Given the description of an element on the screen output the (x, y) to click on. 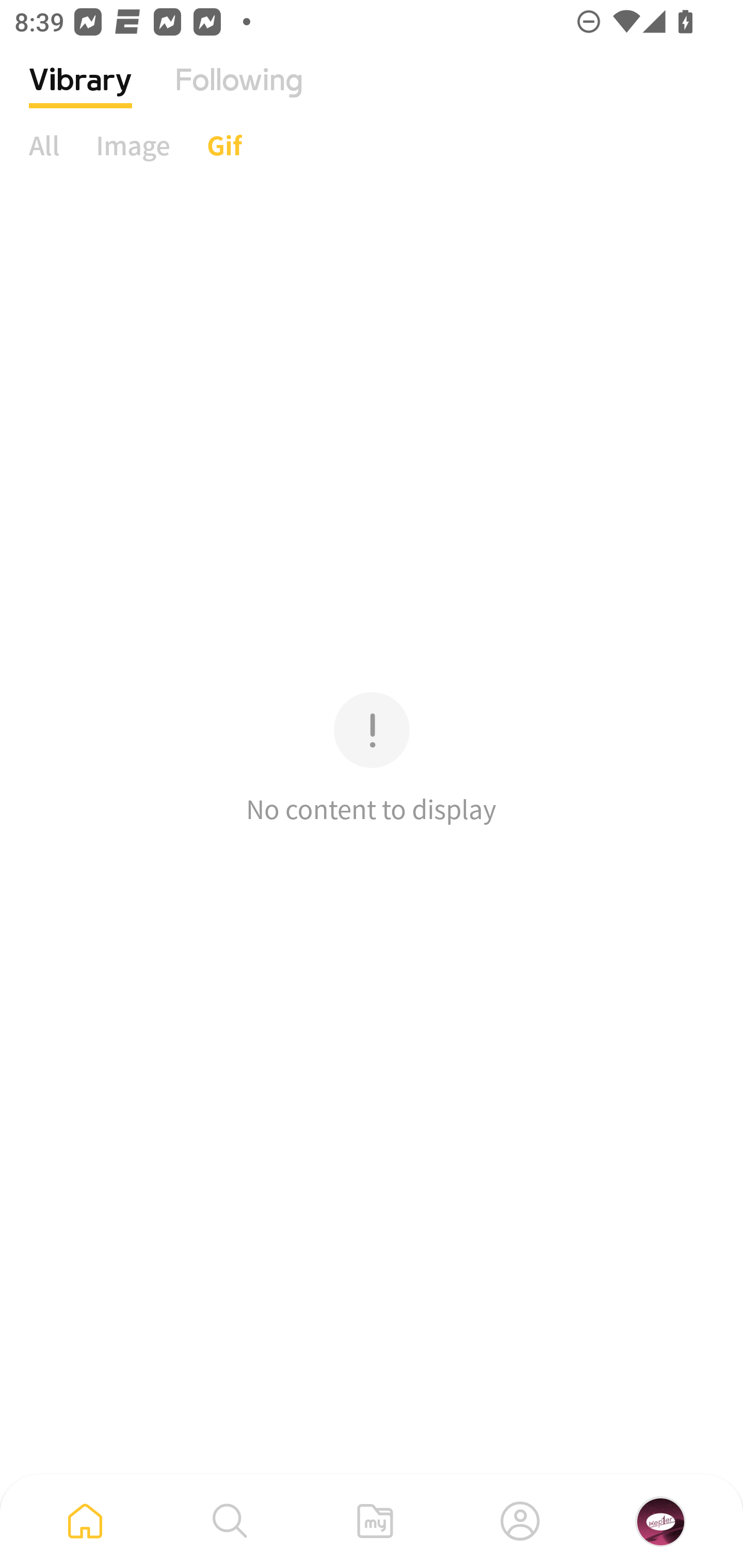
Vibrary (80, 95)
Following (239, 95)
All (44, 145)
Image (132, 145)
Gif (224, 145)
